Given the description of an element on the screen output the (x, y) to click on. 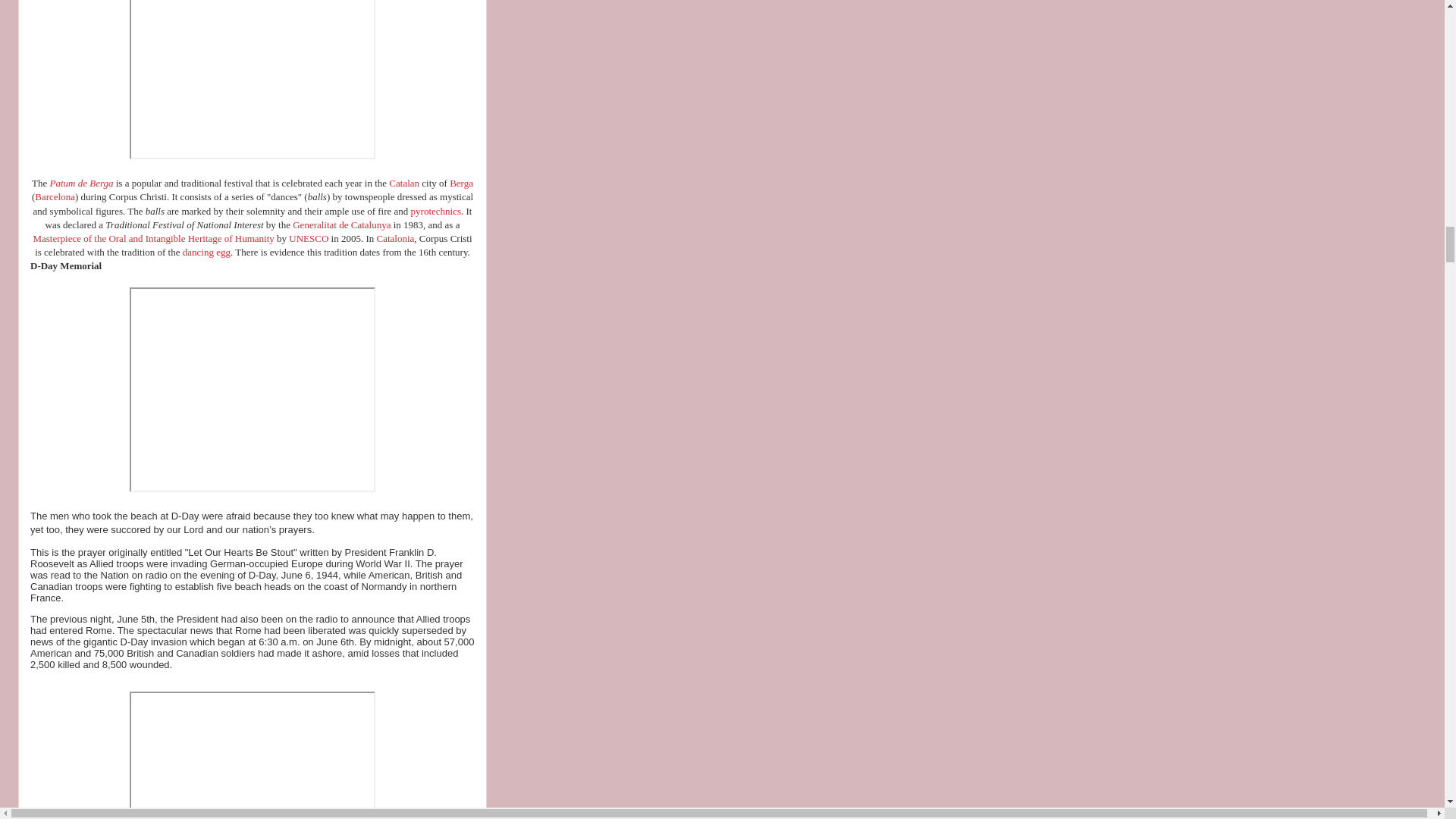
UNESCO (308, 238)
Pyrotechnics (435, 211)
Catalonia (395, 238)
Masterpieces of the Oral and Intangible Heritage of Humanity (152, 238)
Berga (461, 183)
Generalitat de Catalunya (341, 224)
Patum de Berga (81, 183)
Province of Barcelona (54, 196)
Catalonia (403, 183)
